Given the description of an element on the screen output the (x, y) to click on. 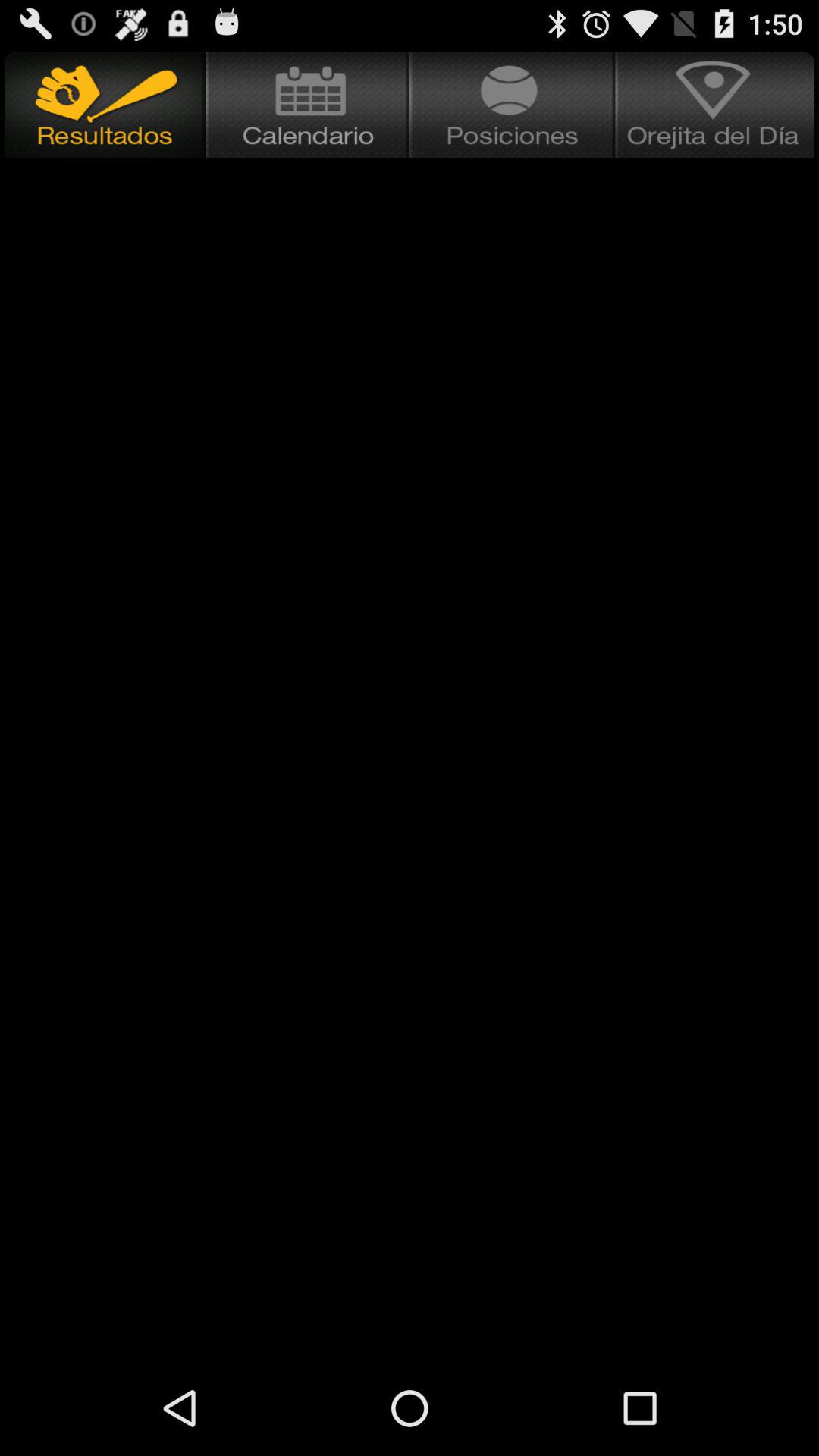
result (102, 104)
